Given the description of an element on the screen output the (x, y) to click on. 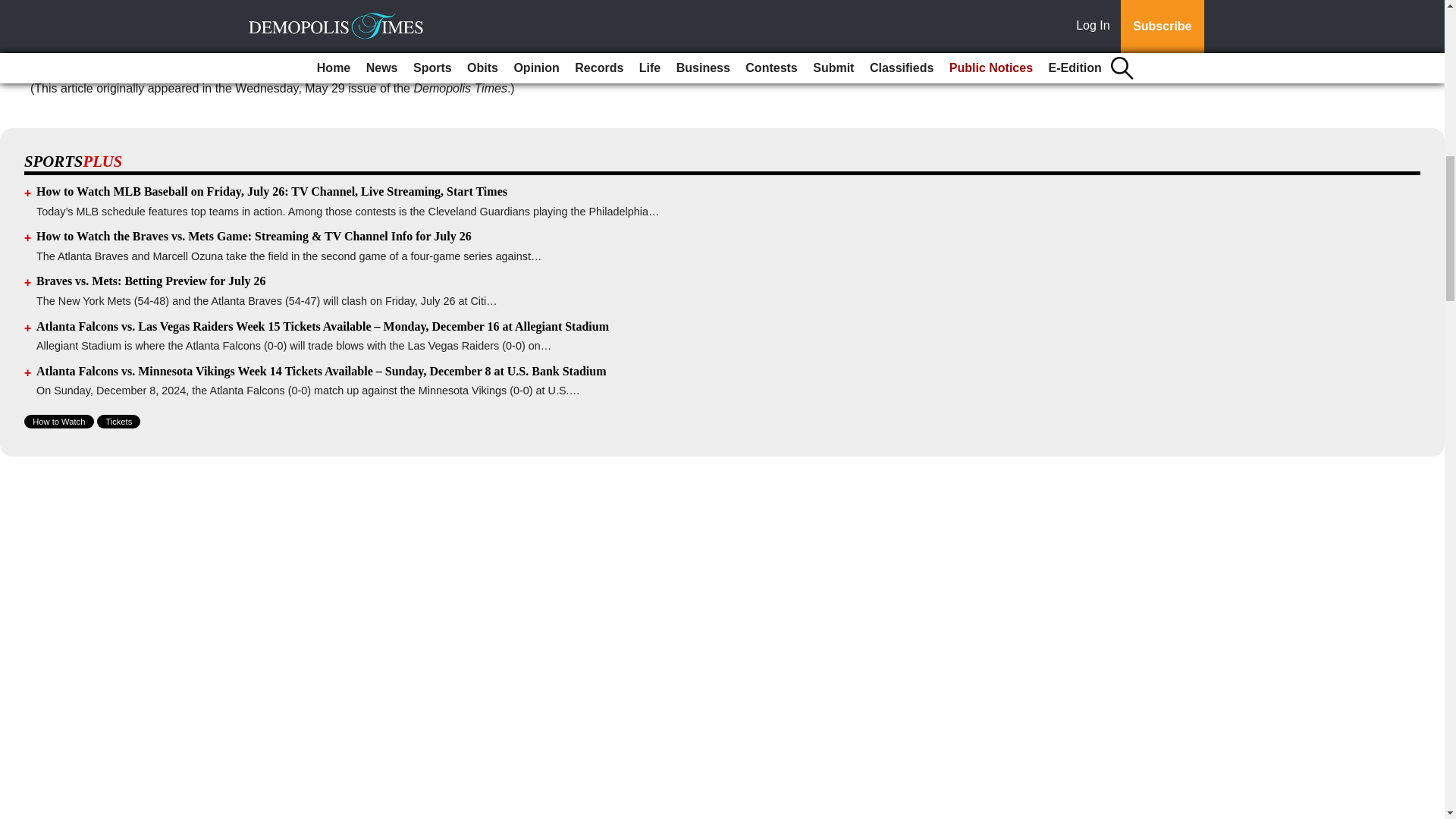
Braves vs. Mets: Betting Preview for July 26 (150, 280)
Tickets (118, 421)
How to Watch (59, 421)
